Given the description of an element on the screen output the (x, y) to click on. 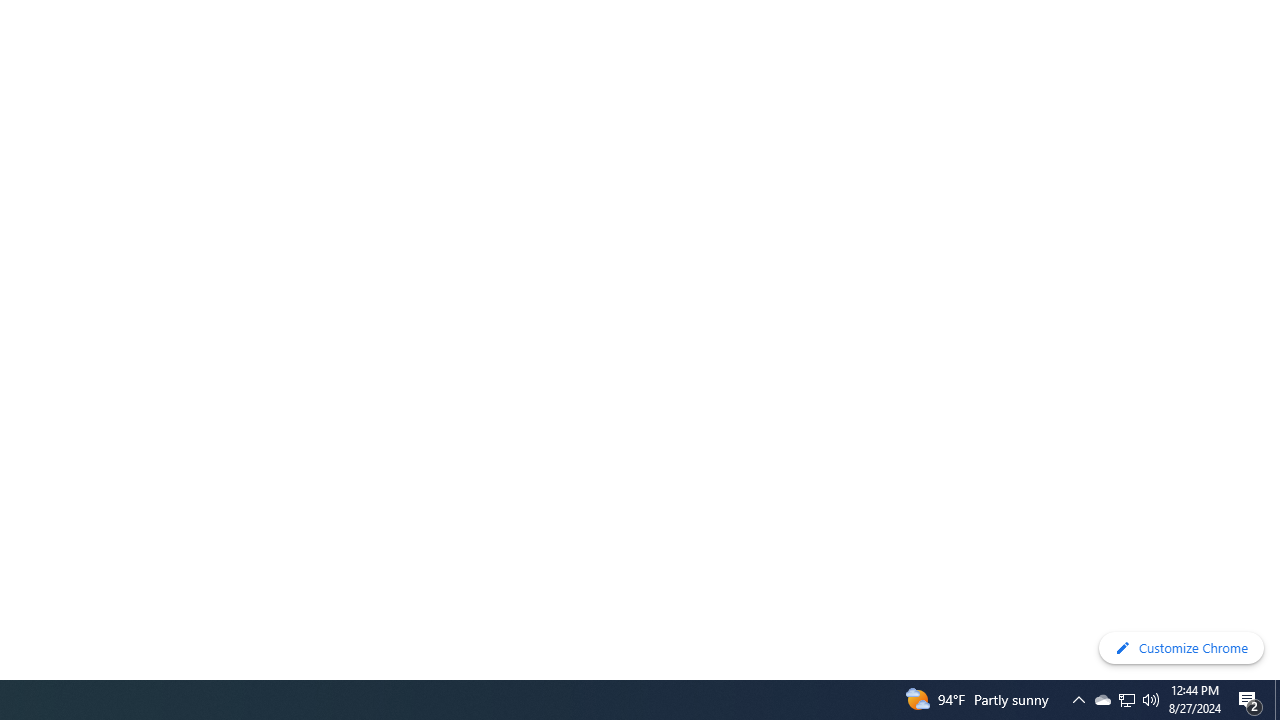
Customize Chrome (1181, 647)
